Given the description of an element on the screen output the (x, y) to click on. 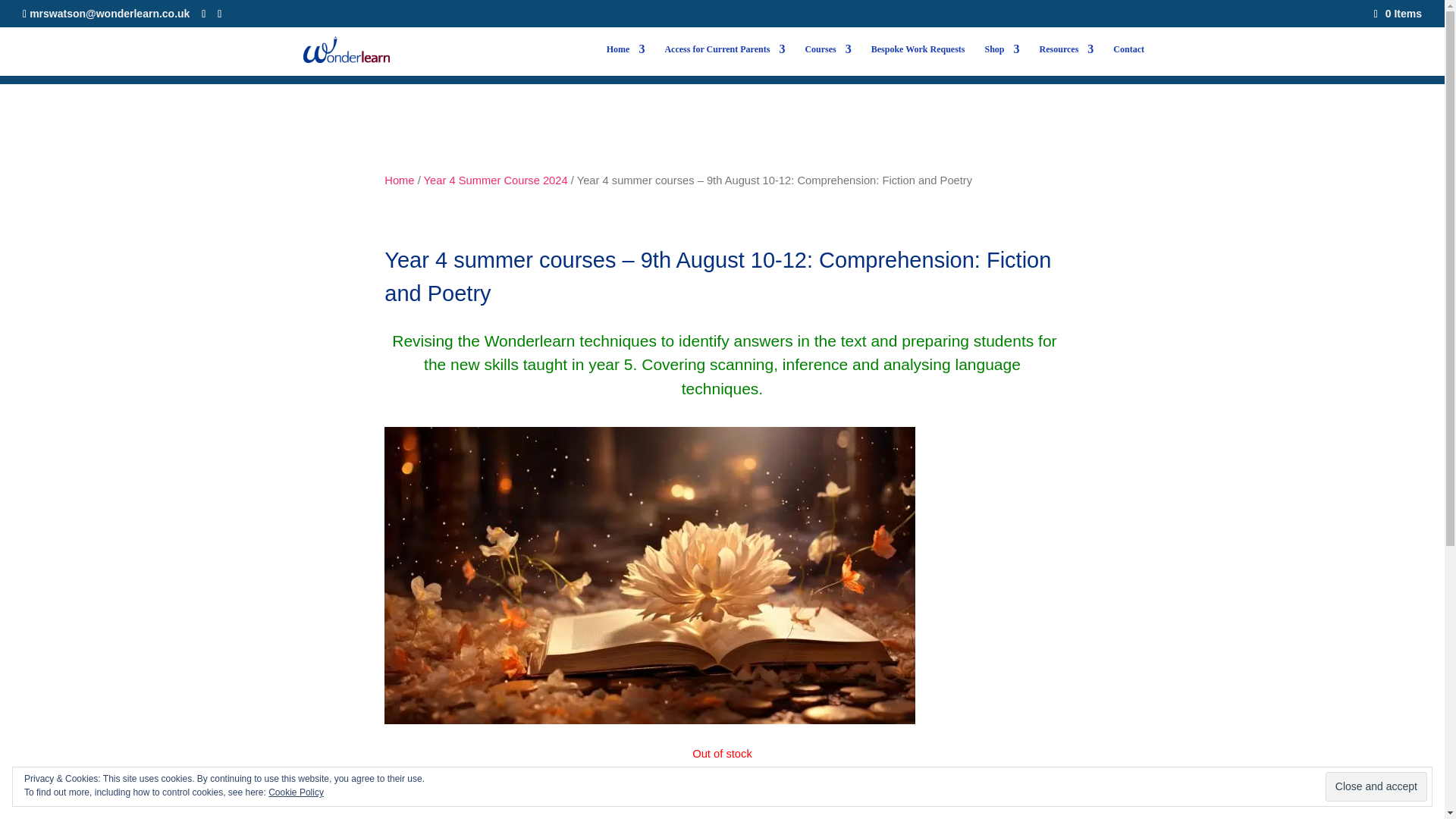
Contact (1128, 60)
Close and accept (1375, 786)
Courses (827, 60)
0 Items (1398, 13)
Access for Current Parents (723, 60)
Resources (1066, 60)
Shop (1002, 60)
Home (626, 60)
Year 4 Summer Course 2024 (495, 180)
